Given the description of an element on the screen output the (x, y) to click on. 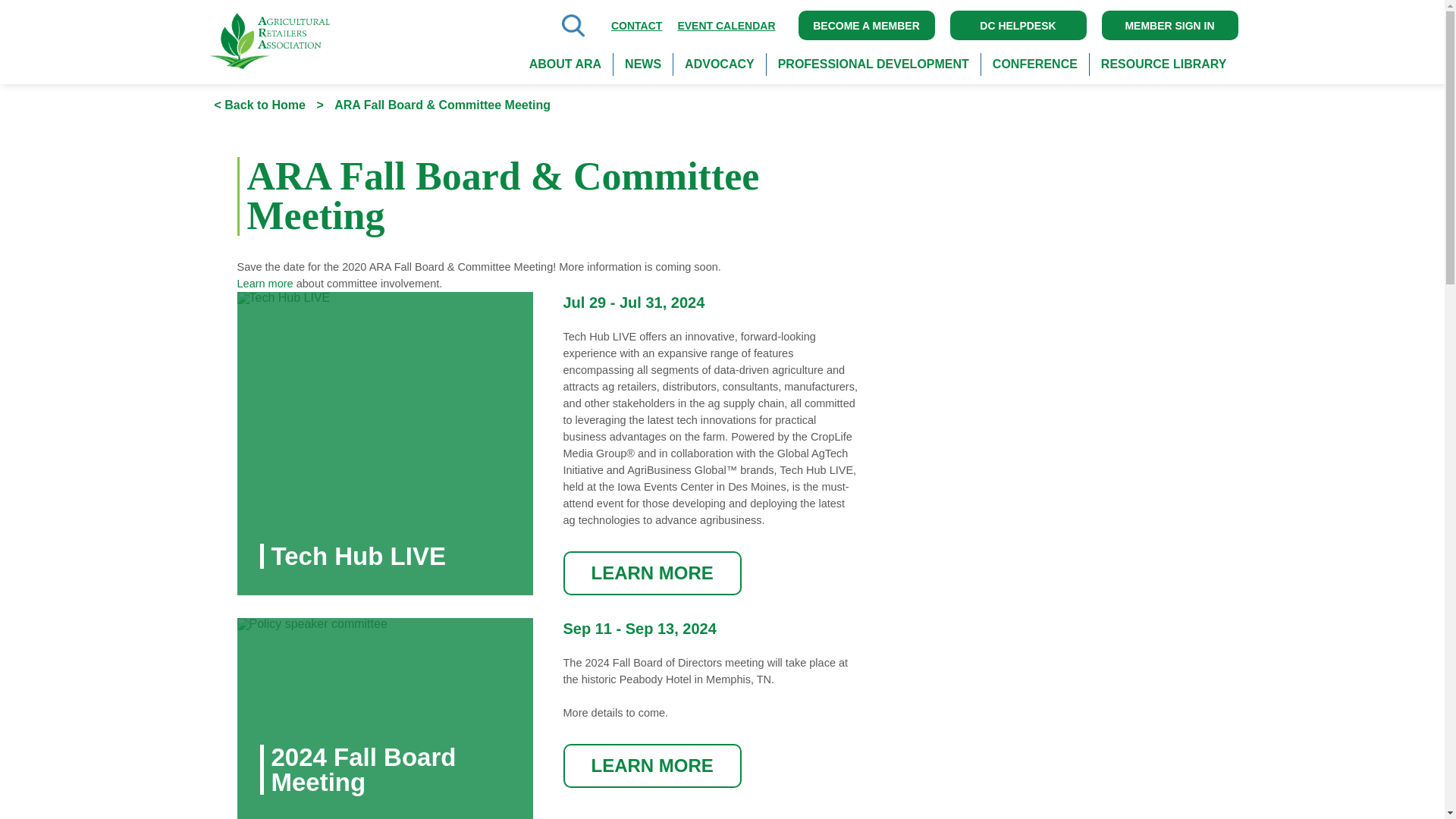
EVENT CALENDAR (726, 24)
CONTACT (636, 24)
DC HELPDESK (1017, 25)
BECOME A MEMBER (865, 25)
MEMBER SIGN IN (1168, 25)
